Given the description of an element on the screen output the (x, y) to click on. 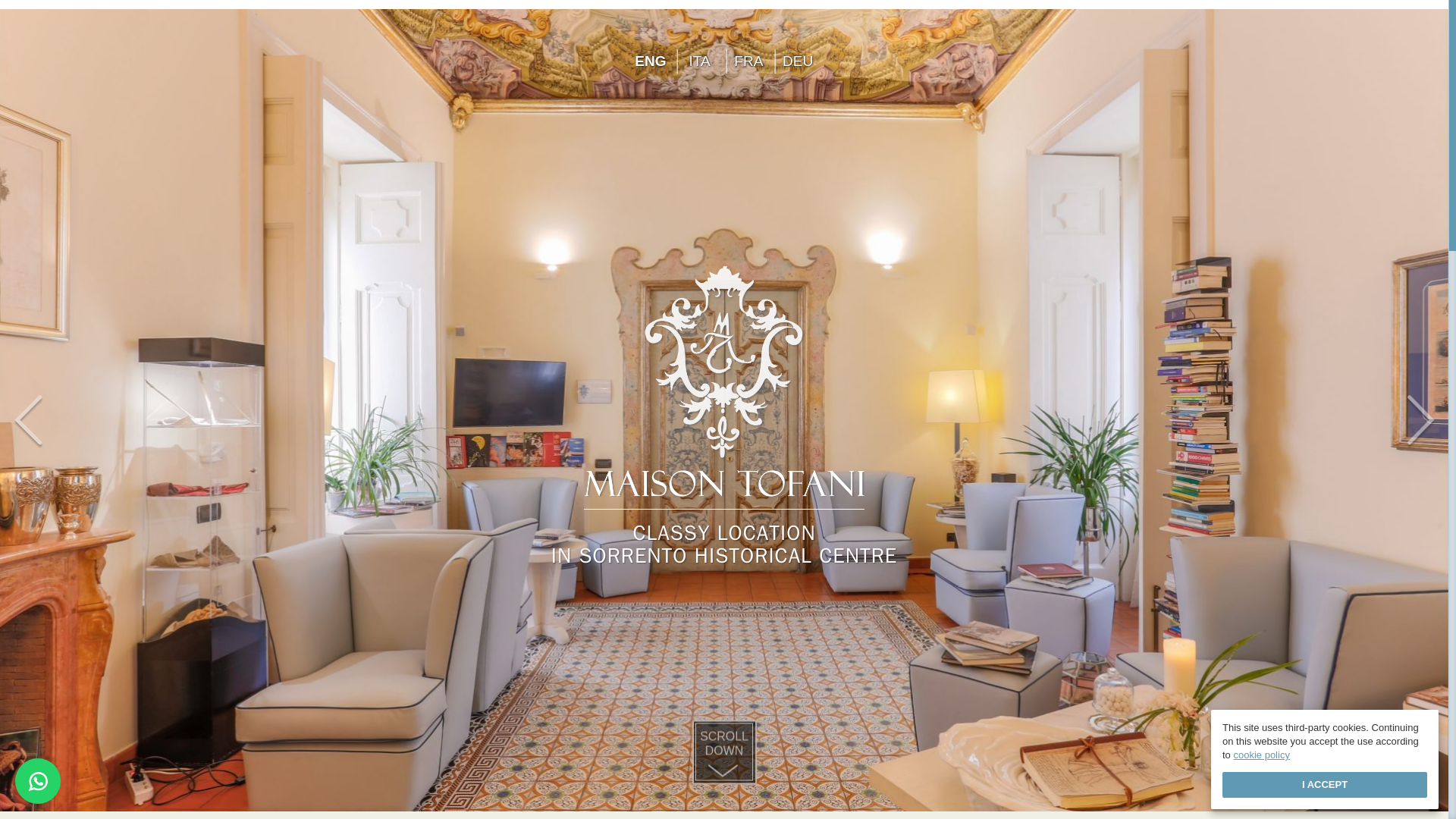
ITA (723, 747)
Deutsch (699, 61)
cookie policy (796, 61)
ENG (1260, 754)
Italiano (649, 61)
English (699, 61)
DEU (649, 61)
FRA (796, 61)
